Given the description of an element on the screen output the (x, y) to click on. 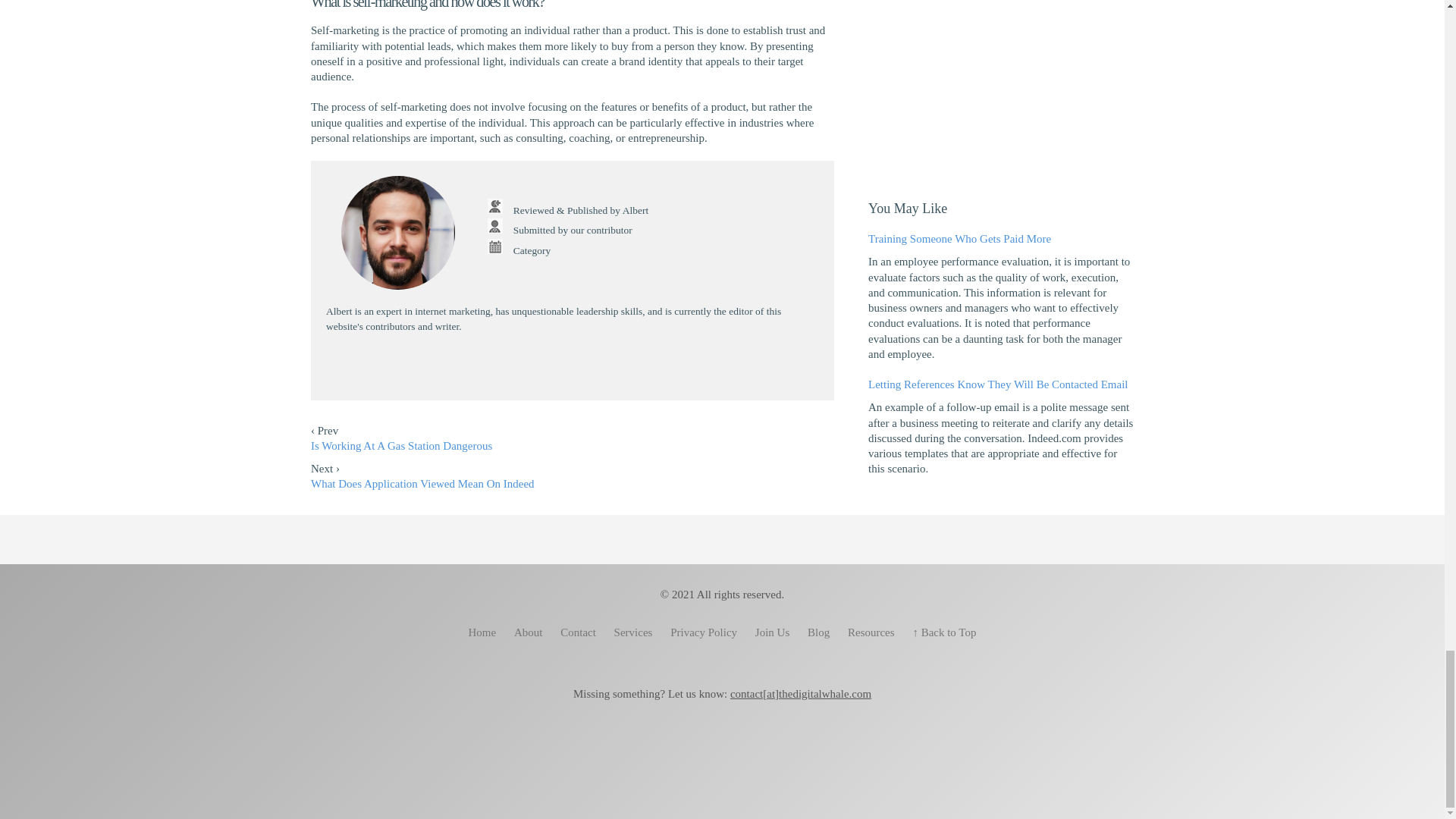
Facebook (521, 368)
Instagram (547, 368)
Instagram (696, 743)
Home (482, 632)
LinkedIn (597, 368)
What Does Application Viewed Mean On Indeed (422, 483)
Is Working At A Gas Station Dangerous (401, 445)
What Does Application Viewed Mean On Indeed (422, 483)
Youtube (571, 368)
Join Us (772, 632)
